Given the description of an element on the screen output the (x, y) to click on. 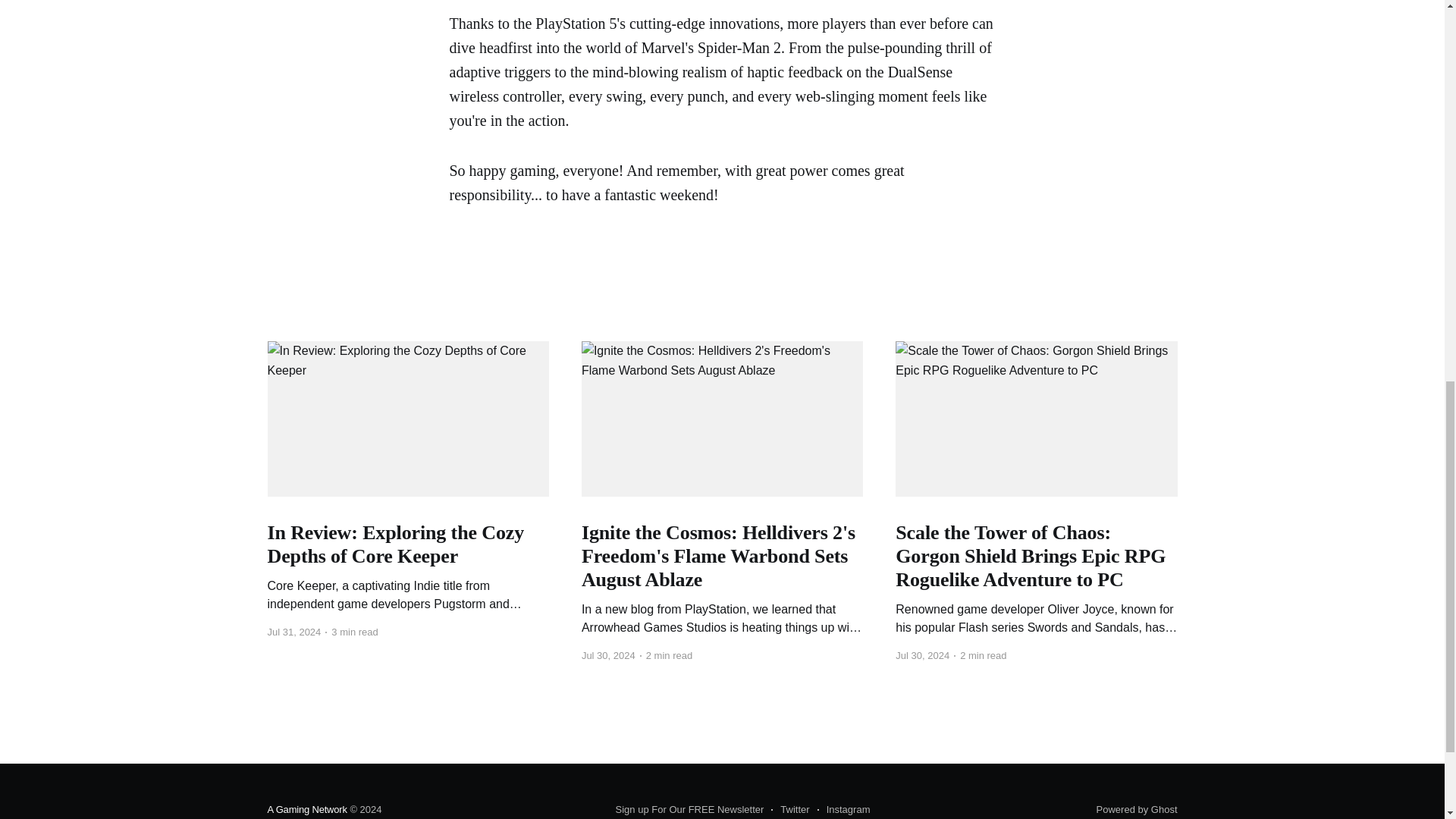
A Gaming Network (306, 808)
Twitter (790, 809)
Instagram (843, 809)
Sign up For Our FREE Newsletter (689, 809)
Powered by Ghost (1136, 808)
